Given the description of an element on the screen output the (x, y) to click on. 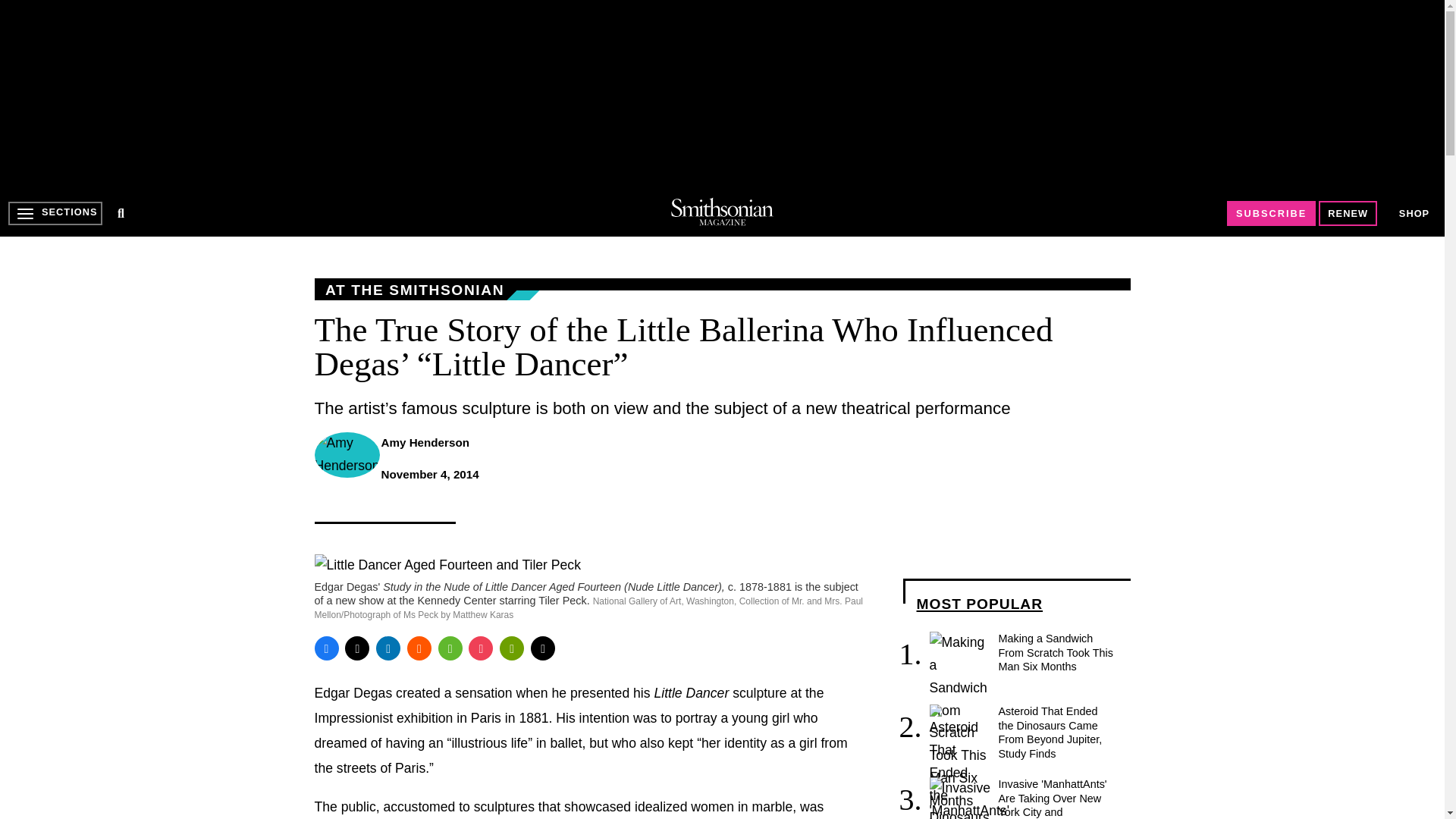
SHOP (1413, 212)
SHOP (1414, 213)
Pocket (480, 648)
SUBSCRIBE (1271, 212)
3rd party ad content (721, 94)
Print (511, 648)
Twitter (357, 648)
RENEW (1348, 213)
Facebook (325, 648)
LinkedIn (387, 648)
